Given the description of an element on the screen output the (x, y) to click on. 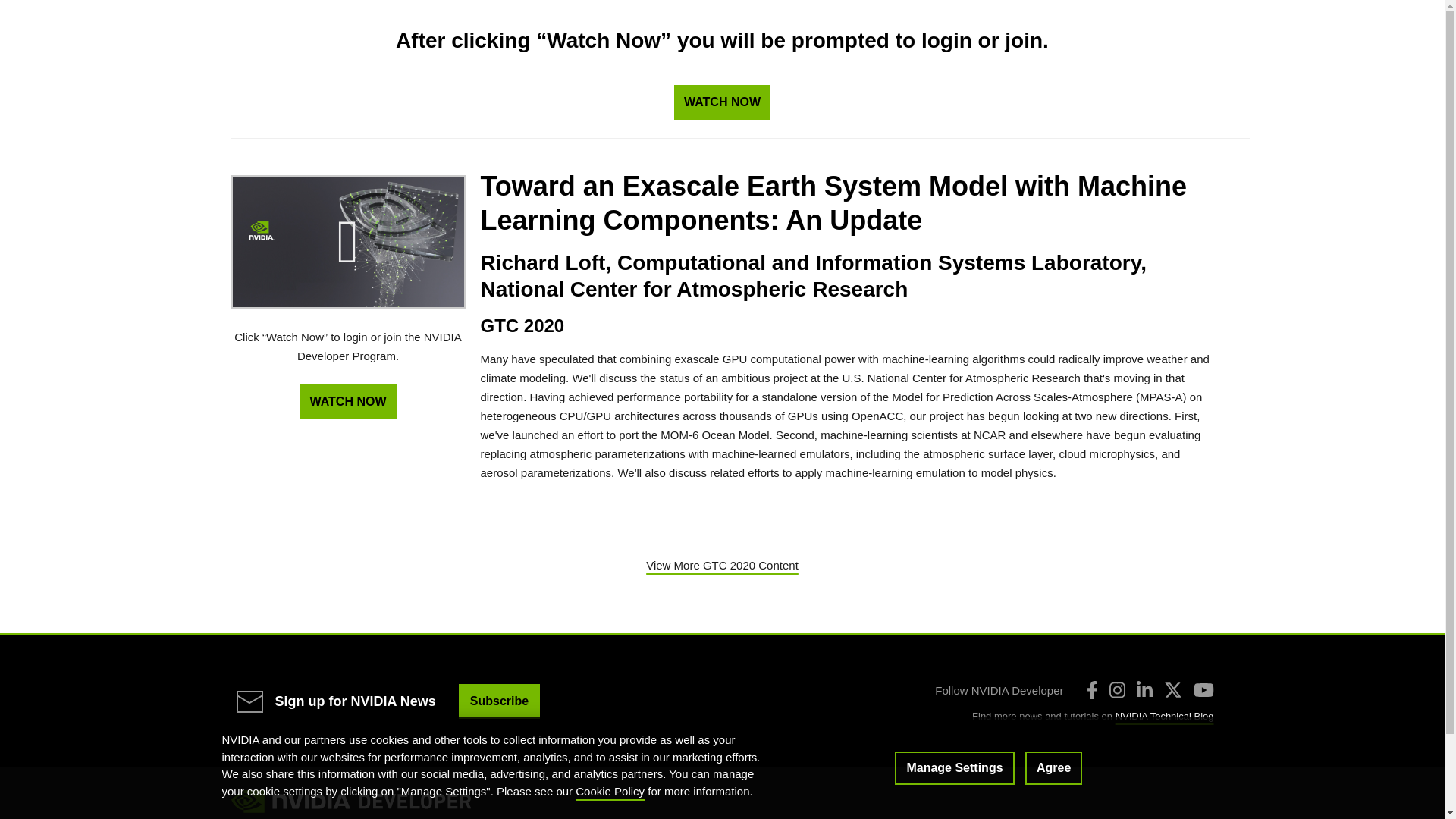
View More GTC 2020 Content (721, 564)
Twitter (1171, 689)
WATCH NOW (347, 401)
Subscribe (499, 701)
Cookie Policy (610, 789)
Agree (1053, 767)
WATCH NOW (722, 102)
NVIDIA Technical Blog (1164, 715)
YouTube (1203, 689)
Manage Settings (954, 767)
